Given the description of an element on the screen output the (x, y) to click on. 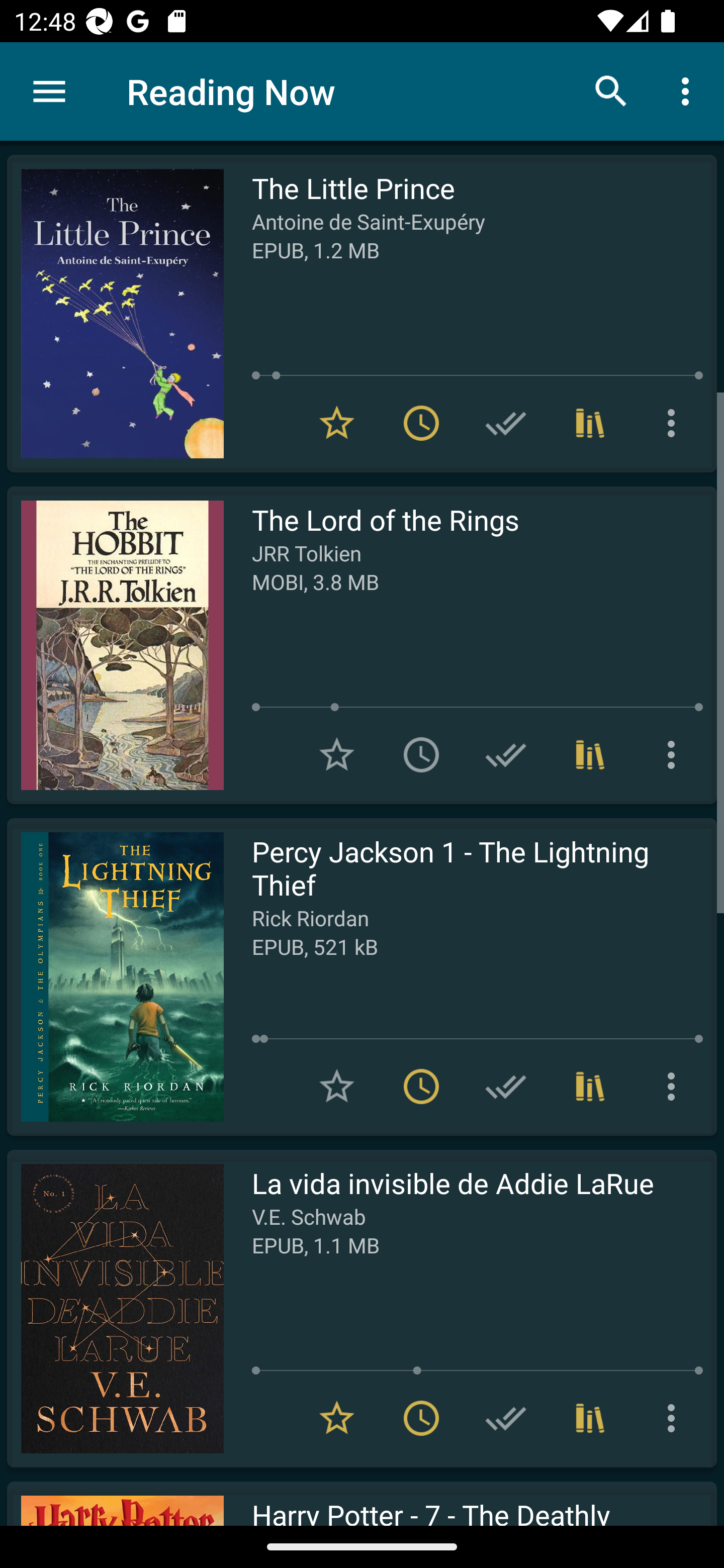
Menu (49, 91)
Search books & documents (611, 90)
More options (688, 90)
Read The Little Prince (115, 313)
Remove from Favorites (336, 423)
Remove from To read (421, 423)
Add to Have read (505, 423)
Collections (1) (590, 423)
More options (674, 423)
Read The Lord of the Rings (115, 645)
Add to Favorites (336, 753)
Add to To read (421, 753)
Add to Have read (505, 753)
Collections (1) (590, 753)
More options (674, 753)
Read Percy Jackson 1 - The Lightning Thief (115, 976)
Add to Favorites (336, 1086)
Remove from To read (421, 1086)
Add to Have read (505, 1086)
Collections (1) (590, 1086)
More options (674, 1086)
Read La vida invisible de Addie LaRue (115, 1308)
Remove from Favorites (336, 1417)
Remove from To read (421, 1417)
Add to Have read (505, 1417)
Collections (1) (590, 1417)
More options (674, 1417)
